Given the description of an element on the screen output the (x, y) to click on. 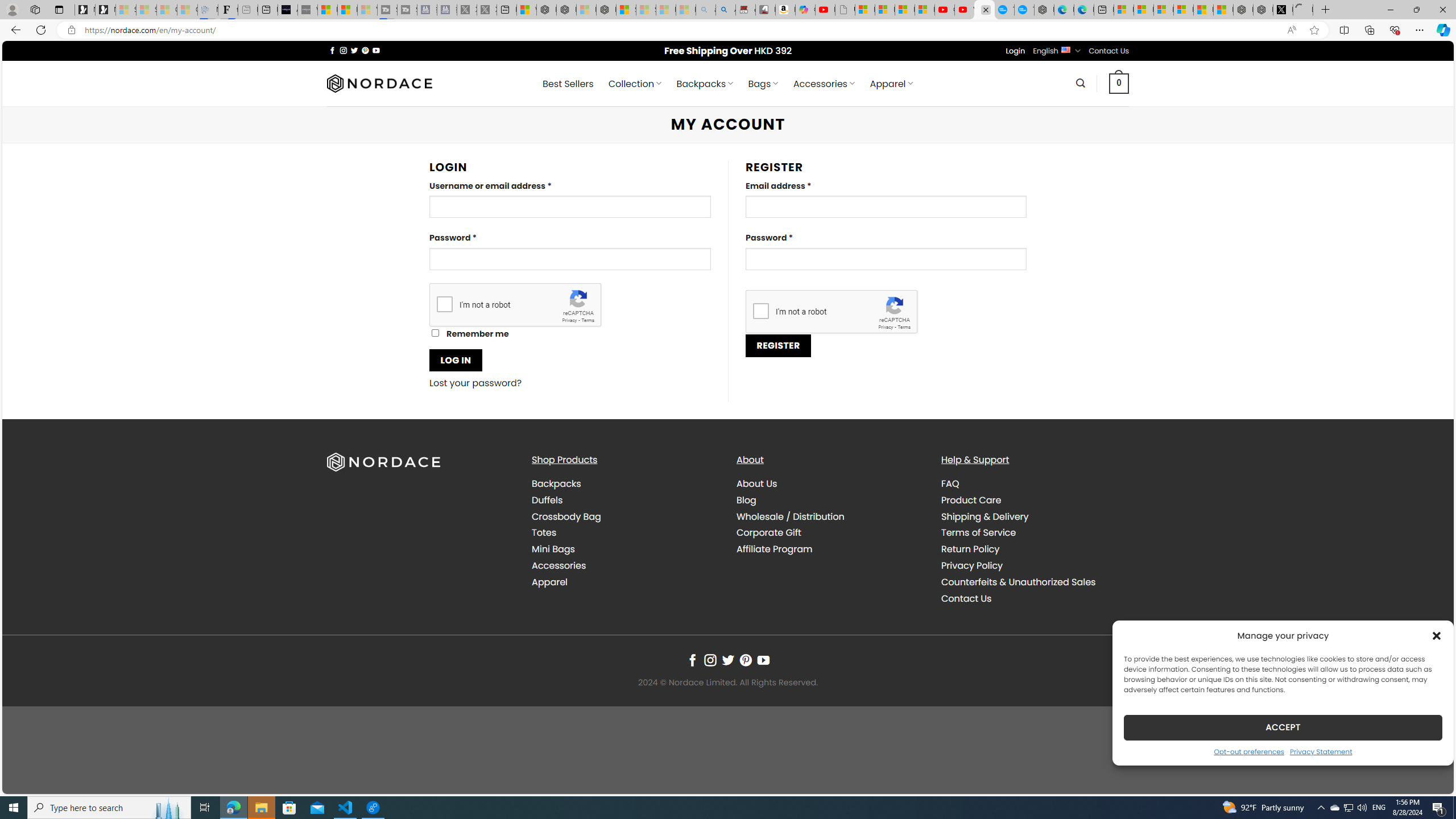
Terms of Service (1034, 532)
Untitled (1302, 9)
ACCEPT (1283, 727)
Nordace (@NordaceOfficial) / X (1282, 9)
Apparel (549, 581)
Corporate Gift (830, 532)
About Us (756, 483)
Amazon Echo Dot PNG - Search Images (725, 9)
